Given the description of an element on the screen output the (x, y) to click on. 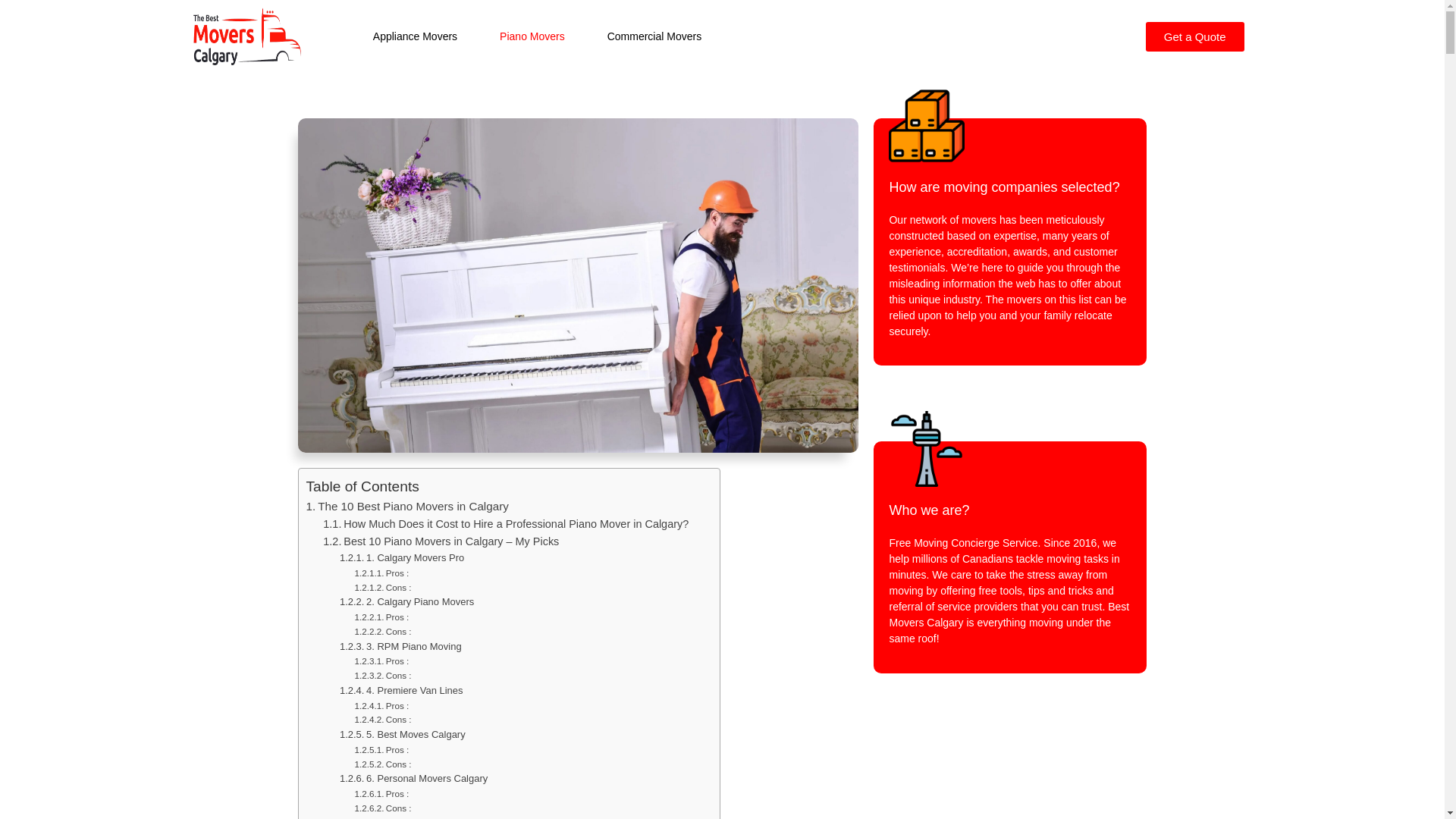
Get a Quote Element type: text (1194, 35)
1. Calgary Movers Pro Element type: text (401, 557)
Cons : Element type: text (382, 631)
2. Calgary Piano Movers Element type: text (406, 601)
Cons : Element type: text (382, 587)
6. Personal Movers Calgary Element type: text (413, 778)
Appliance Movers Element type: text (415, 36)
Cons : Element type: text (382, 719)
Pros : Element type: text (381, 616)
Pros : Element type: text (381, 793)
Cons : Element type: text (382, 807)
Piano Movers Element type: text (531, 36)
Pros : Element type: text (381, 572)
4. Premiere Van Lines Element type: text (401, 690)
Pros : Element type: text (381, 749)
Pros : Element type: text (381, 705)
Pros : Element type: text (381, 660)
5. Best Moves Calgary Element type: text (402, 734)
The 10 Best Piano Movers in Calgary Element type: text (407, 505)
Cons : Element type: text (382, 675)
Cons : Element type: text (382, 763)
3. RPM Piano Moving Element type: text (400, 646)
Commercial Movers Element type: text (654, 36)
